Given the description of an element on the screen output the (x, y) to click on. 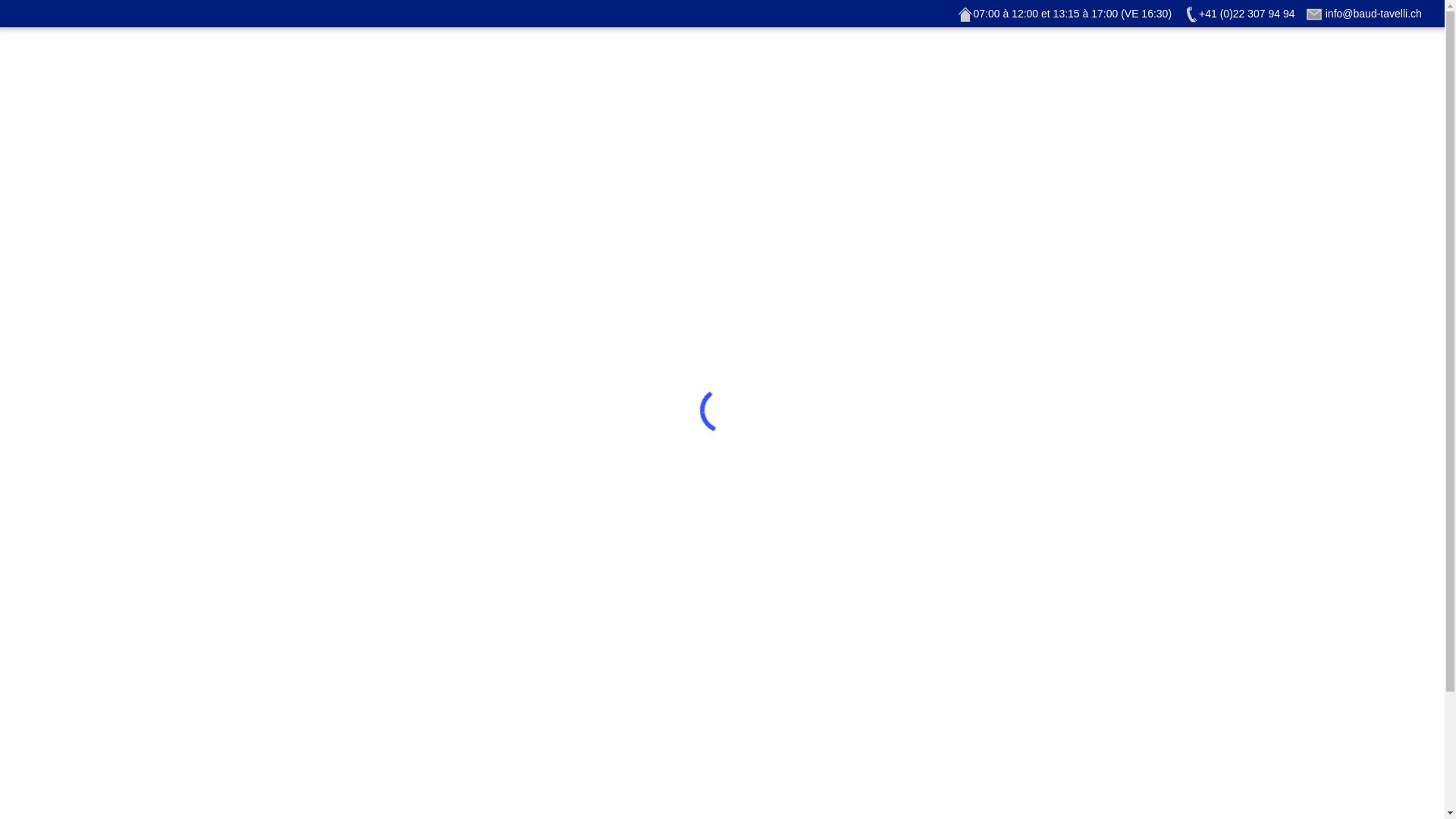
Contact Element type: text (929, 66)
info@baud-tavelli.ch Element type: text (1364, 13)
Formulaire Element type: text (852, 66)
Accueil Element type: text (512, 66)
BACK HOME Element type: text (722, 523)
+41 (0)22 307 94 94 Element type: text (1238, 13)
Historique Element type: text (683, 66)
